Given the description of an element on the screen output the (x, y) to click on. 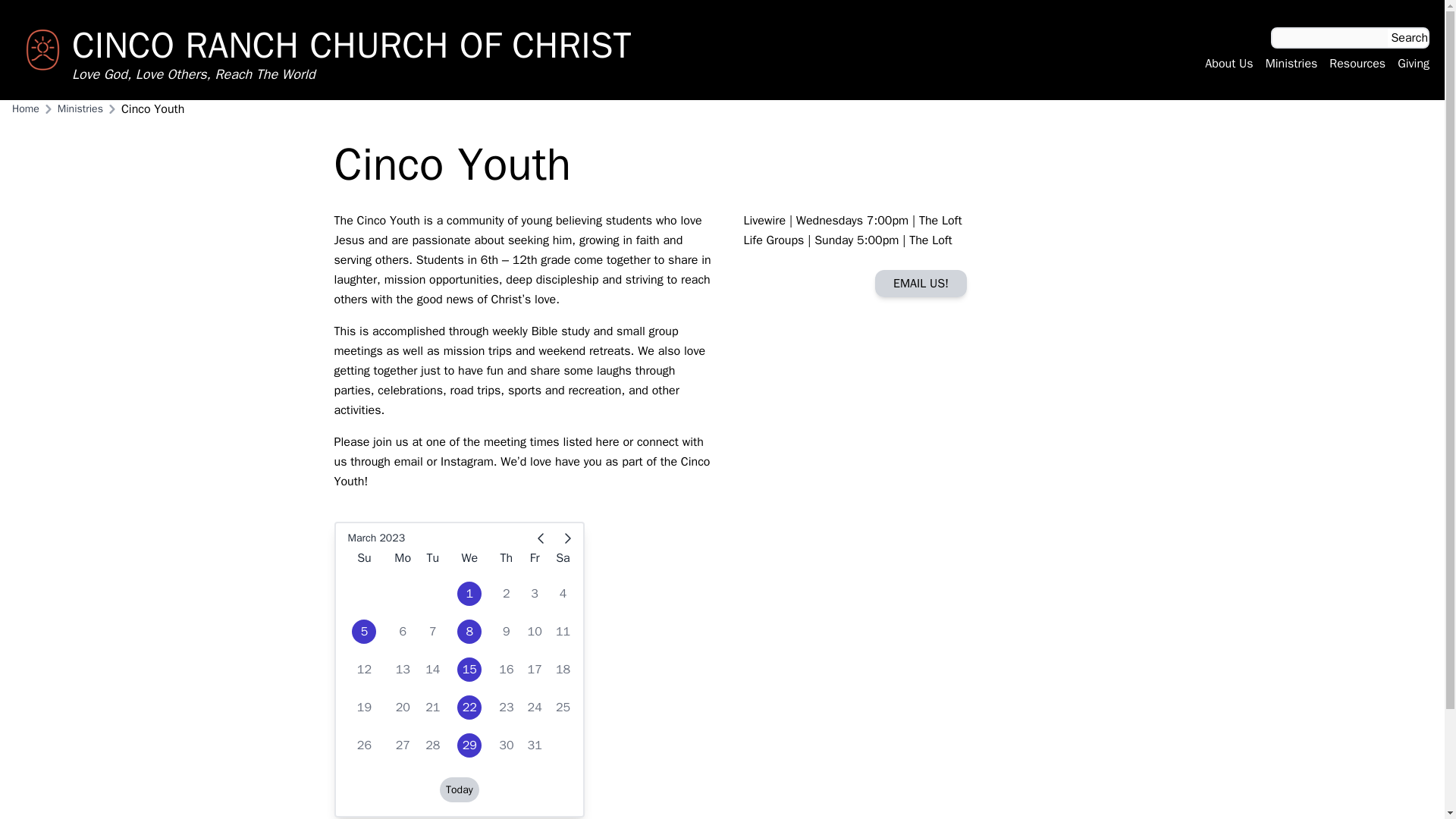
Resources (1357, 63)
Search (1409, 37)
March (361, 538)
Search (1409, 37)
1 (469, 593)
Giving (1413, 63)
EMAIL US! (920, 283)
Ministries (80, 109)
2023 (391, 538)
Ministries (1291, 63)
About Us (1228, 63)
Home (25, 109)
